Given the description of an element on the screen output the (x, y) to click on. 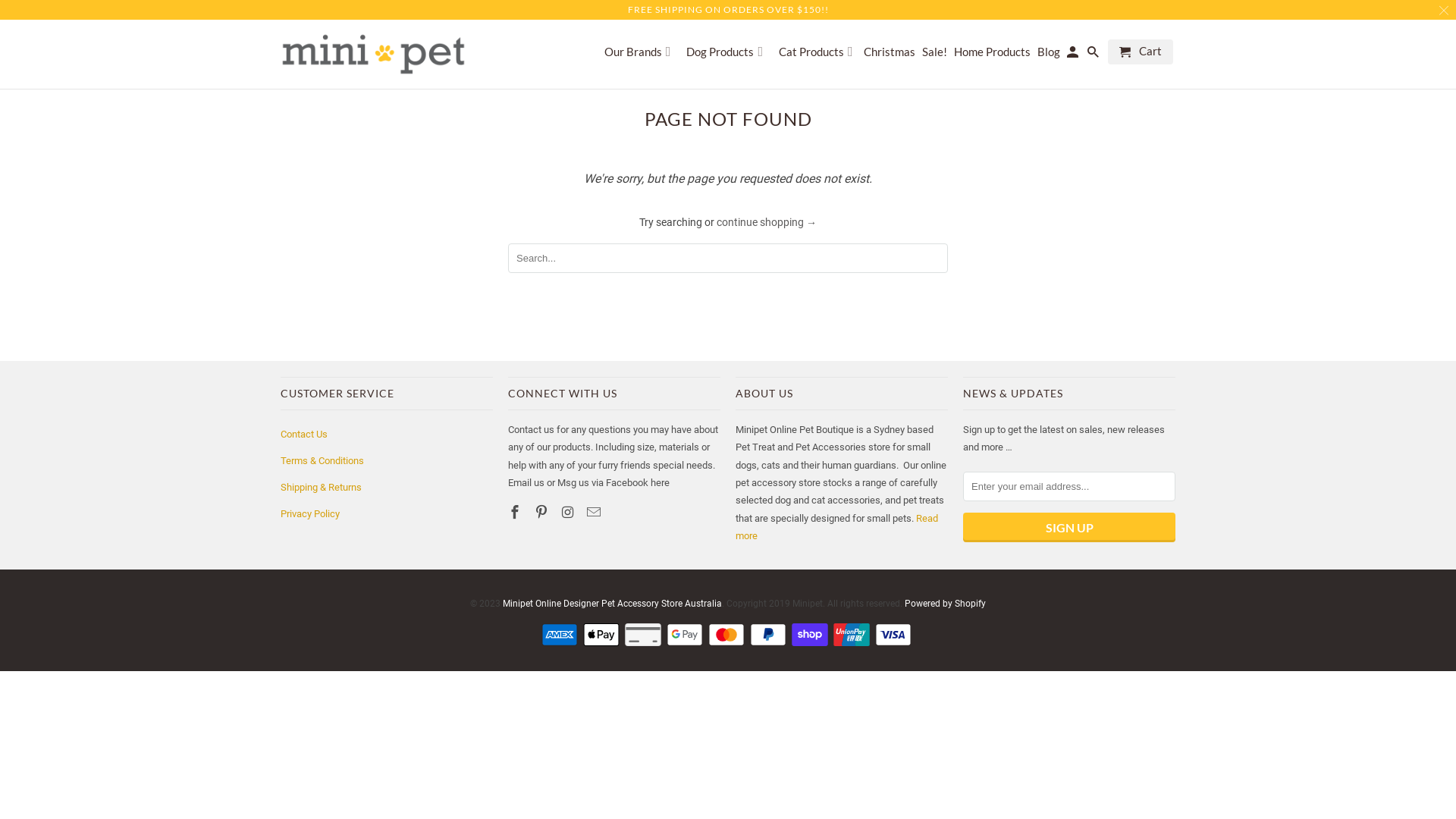
Minipet Online Designer Pet Accessory Store Australia Element type: text (611, 603)
Search Element type: hover (1094, 54)
My Account  Element type: hover (1073, 54)
Privacy Policy Element type: text (309, 513)
Christmas Element type: text (889, 54)
Contact Us Element type: text (303, 433)
Minipet Online Designer Pet Accessory Store Australia Element type: hover (373, 54)
Blog Element type: text (1048, 54)
Powered by Shopify Element type: text (944, 603)
Terms & Conditions Element type: text (322, 460)
Cart Element type: text (1140, 51)
Home Products Element type: text (991, 54)
Email Minipet Online Designer Pet Accessory Store Australia Element type: hover (594, 512)
Sign Up Element type: text (1069, 527)
Shipping & Returns Element type: text (320, 486)
Sale! Element type: text (934, 54)
Read more Element type: text (836, 526)
